Given the description of an element on the screen output the (x, y) to click on. 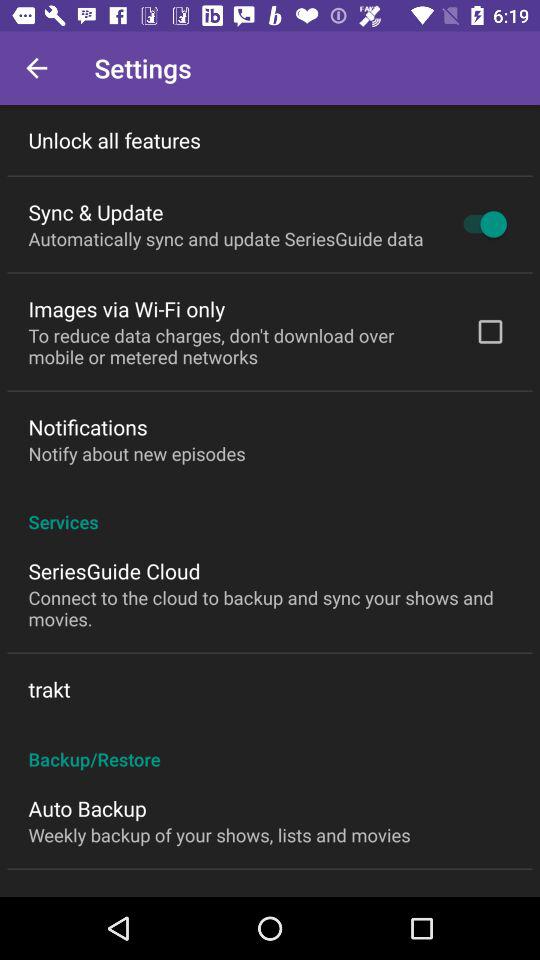
select item above the sync & update icon (114, 139)
